Given the description of an element on the screen output the (x, y) to click on. 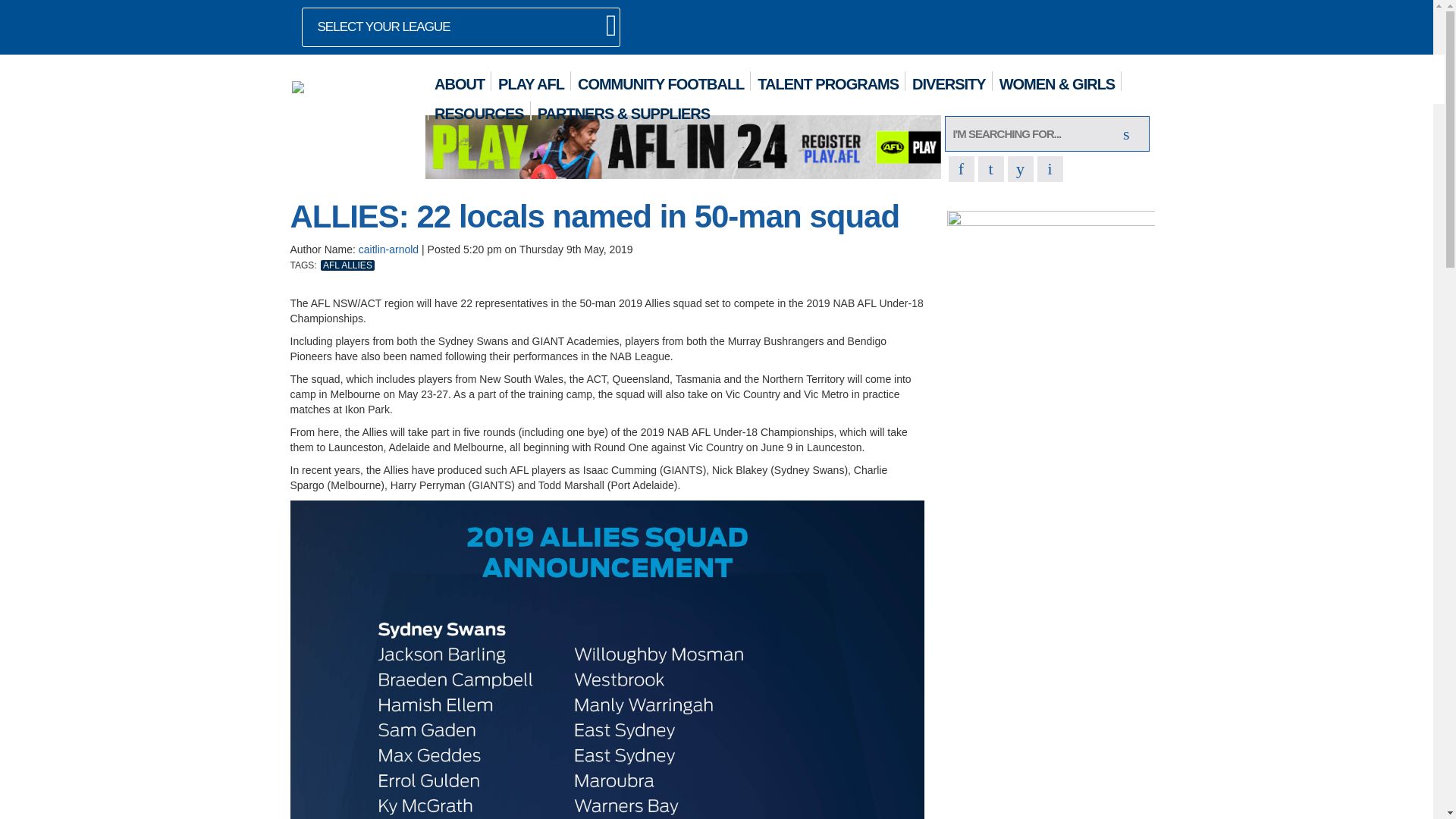
ABOUT (458, 80)
COMMUNITY FOOTBALL (661, 80)
PLAY AFL (530, 80)
Play AFL (1050, 296)
